Given the description of an element on the screen output the (x, y) to click on. 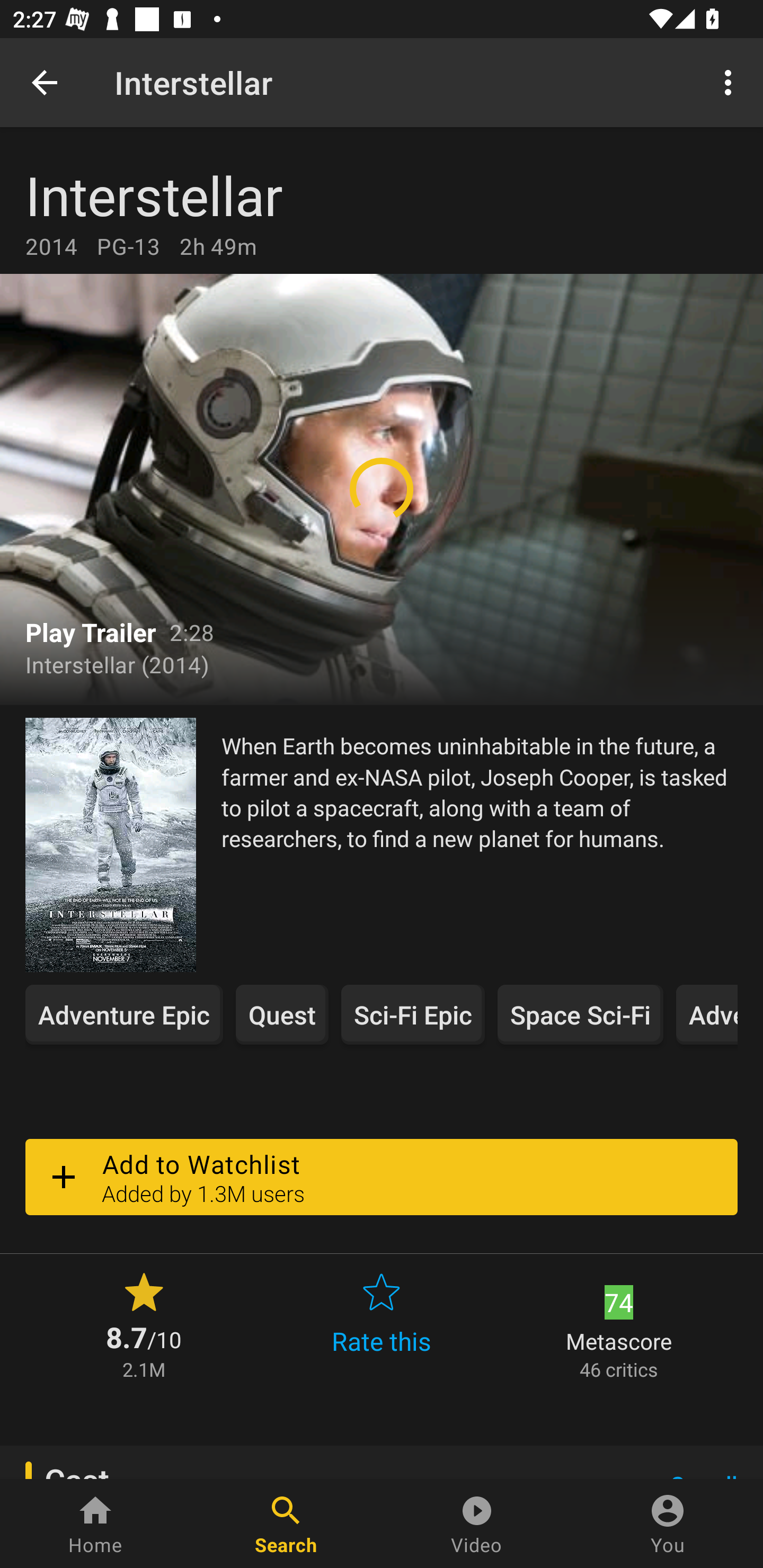
More options (731, 81)
Adventure Epic (123, 1014)
Quest (281, 1014)
Sci-Fi Epic (412, 1014)
Space Sci-Fi (580, 1014)
Add to Watchlist Added by 1.3M users (381, 1176)
8.7 /10 2.1M (143, 1323)
Rate this (381, 1323)
74 Metascore 46 critics (618, 1323)
Home (95, 1523)
Video (476, 1523)
You (667, 1523)
